Given the description of an element on the screen output the (x, y) to click on. 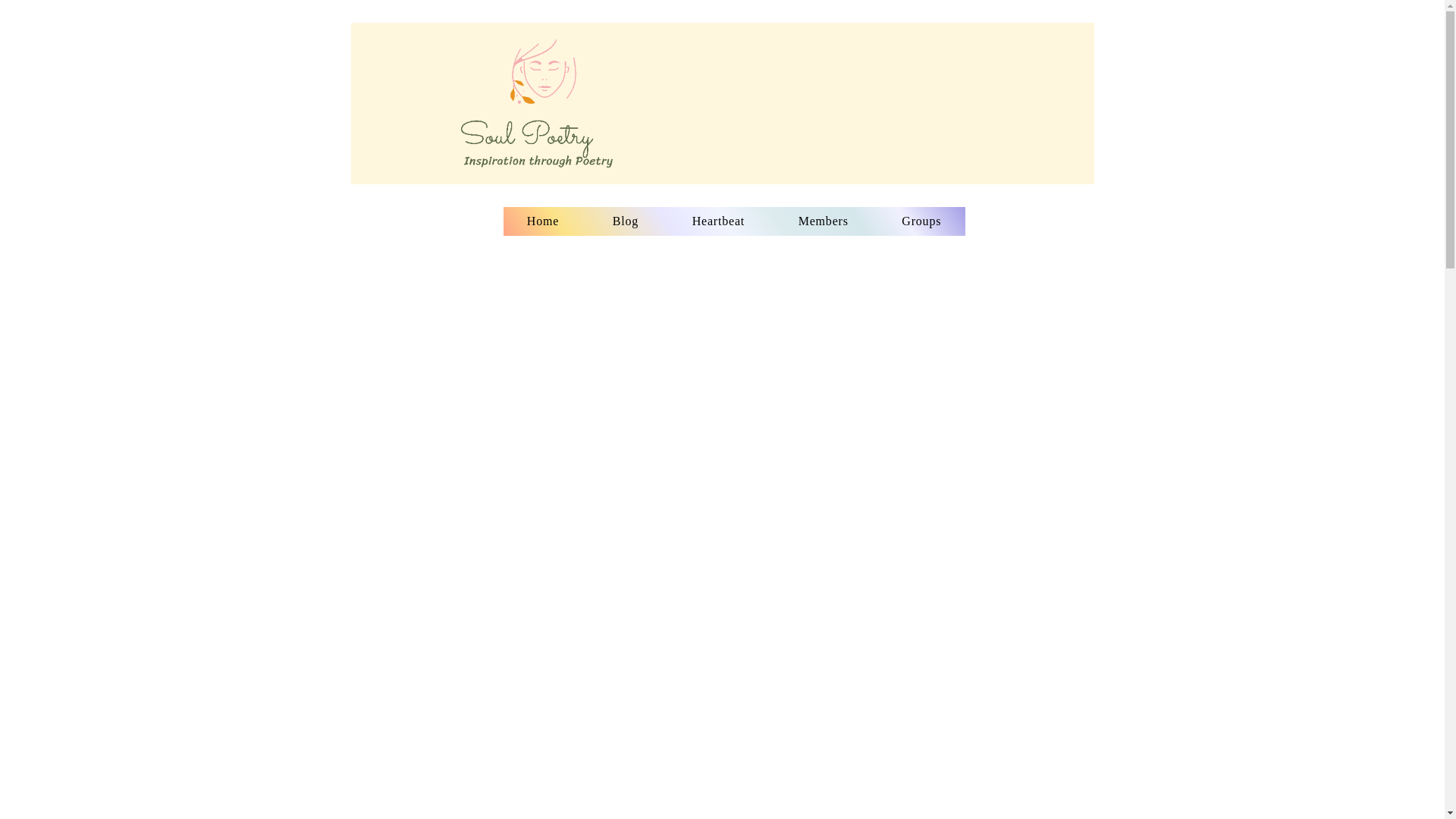
Groups (921, 221)
Blog (625, 221)
Members (823, 221)
Heartbeat (718, 221)
Home (543, 221)
